Given the description of an element on the screen output the (x, y) to click on. 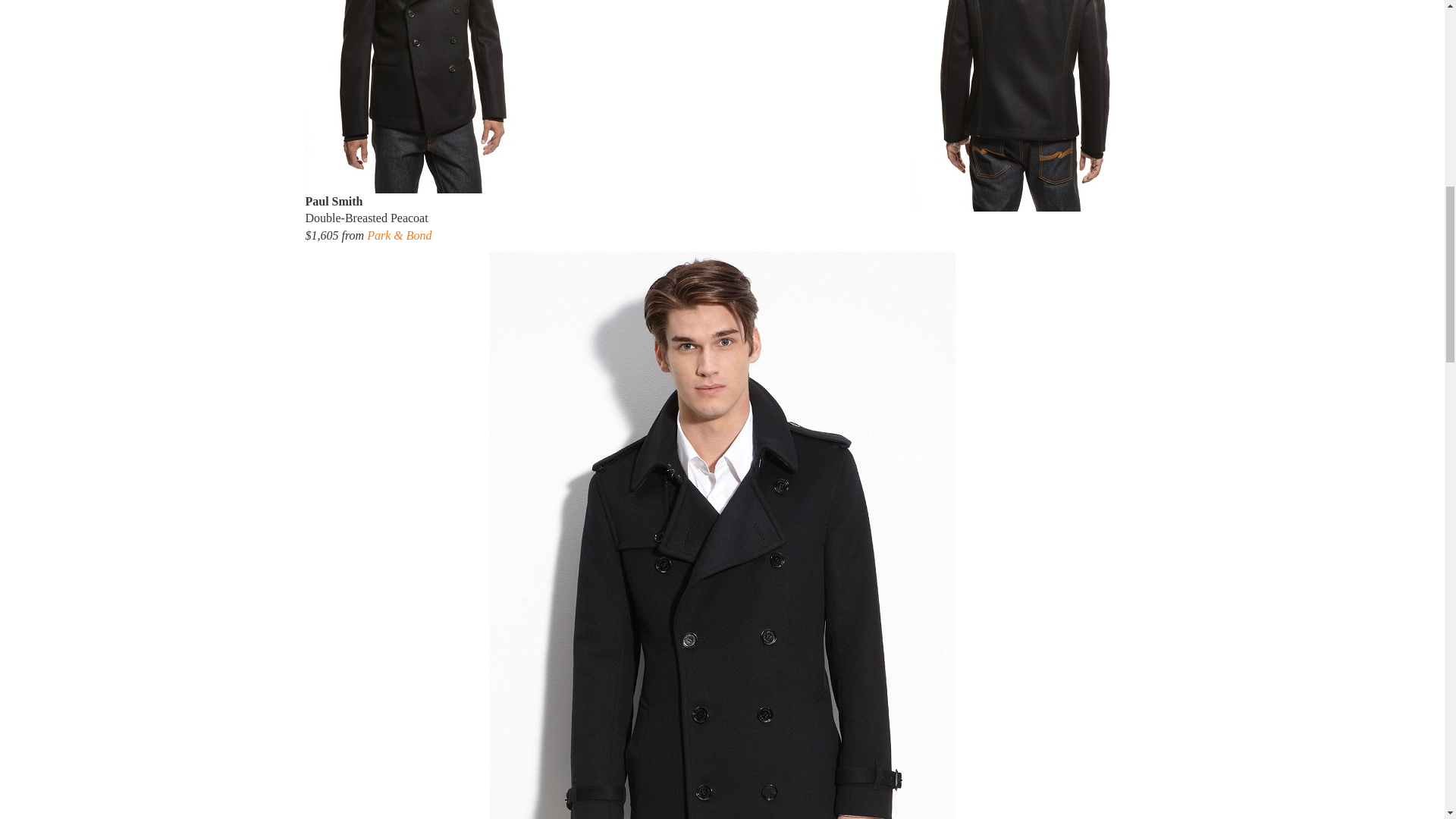
Park and Bond (398, 235)
Paul Smith Wool Peacoat (1024, 105)
Paul Smith Peacoat (418, 96)
